Given the description of an element on the screen output the (x, y) to click on. 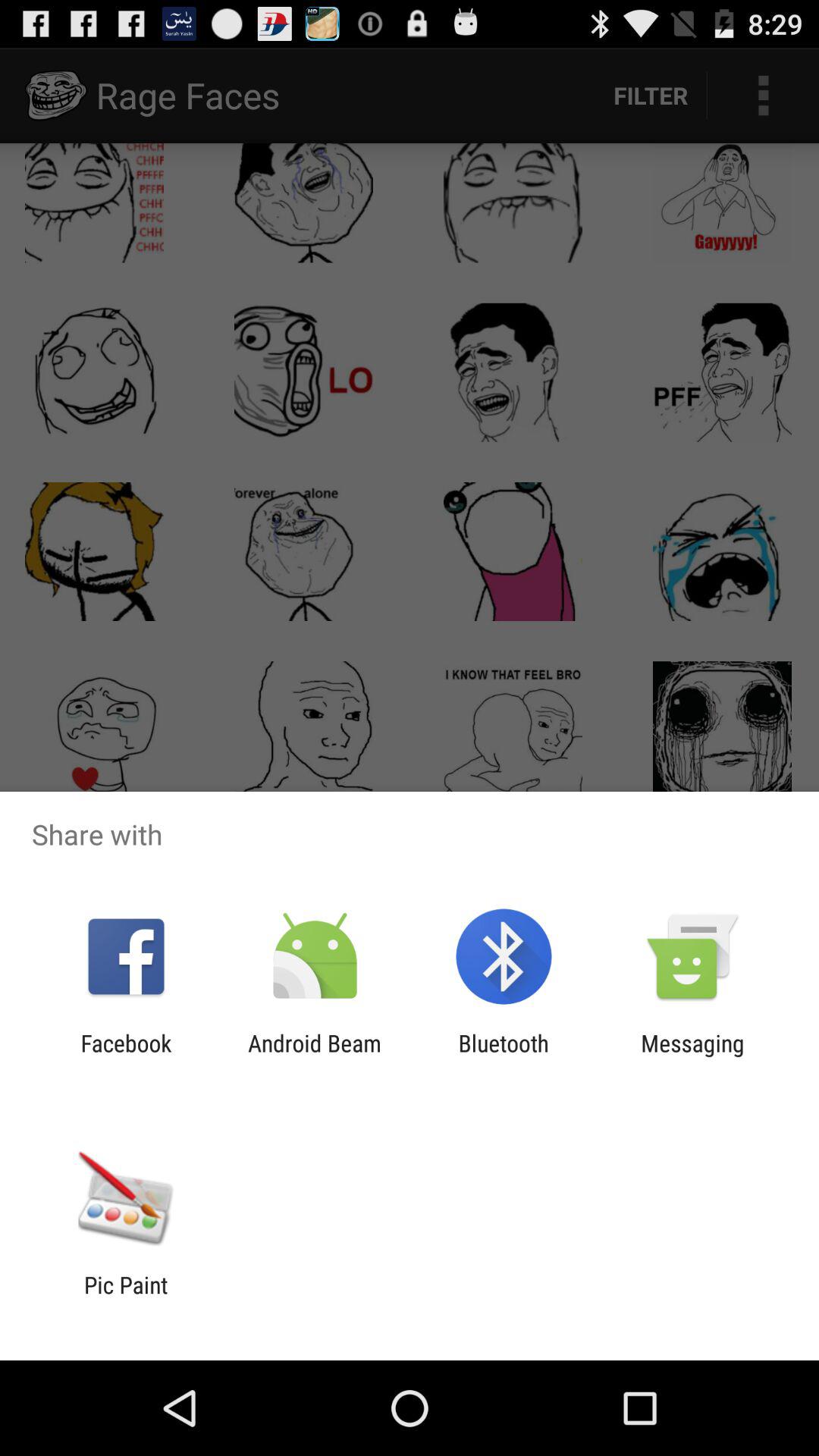
tap the icon to the left of bluetooth app (314, 1056)
